Given the description of an element on the screen output the (x, y) to click on. 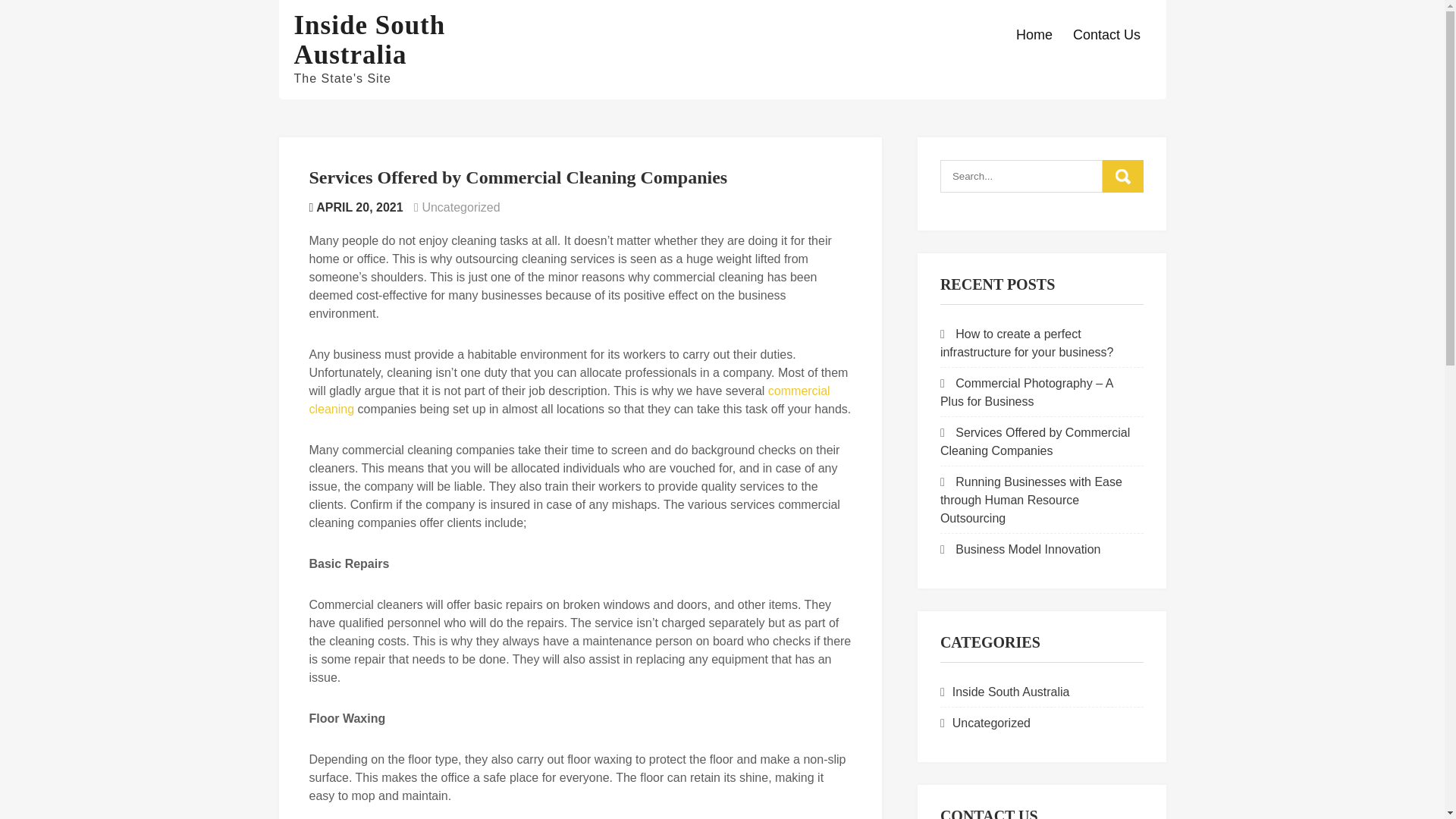
How to create a perfect infrastructure for your business? (1026, 342)
Inside South Australia (369, 39)
Search (1122, 175)
Contact Us (1106, 34)
commercial cleaning (568, 399)
Business Model Innovation (1027, 549)
Uncategorized (991, 722)
Services Offered by Commercial Cleaning Companies (1034, 441)
Home (1034, 34)
Uncategorized (460, 206)
Search (1122, 175)
Search (1122, 175)
Inside South Australia (1011, 691)
